Given the description of an element on the screen output the (x, y) to click on. 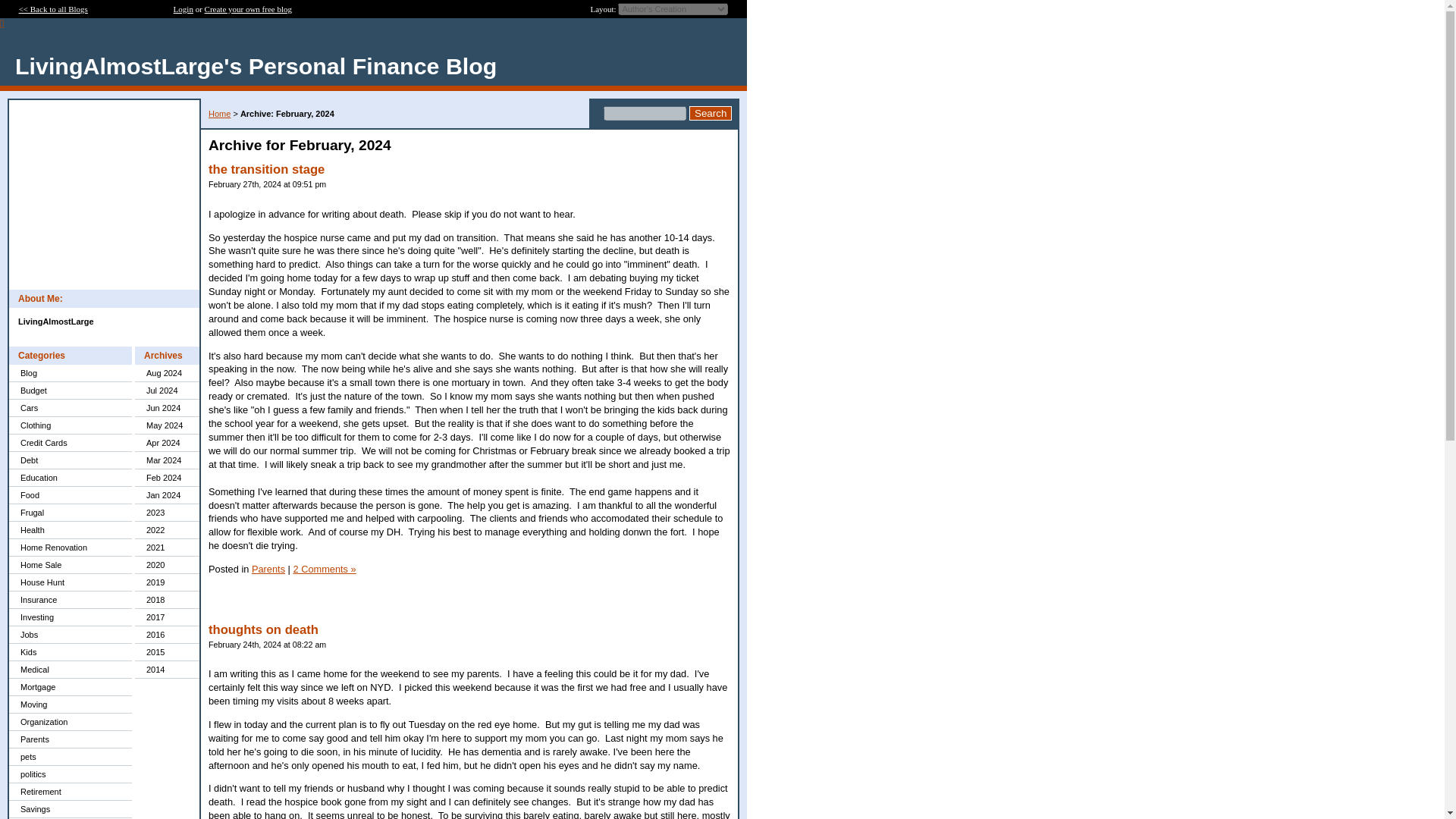
Savings (70, 809)
Health (70, 529)
May 2024 (167, 425)
Clothing (70, 425)
Organization (70, 722)
Create your own free blog (248, 8)
Search (710, 113)
pets (70, 756)
Login (183, 8)
Aug 2024 (167, 373)
